Given the description of an element on the screen output the (x, y) to click on. 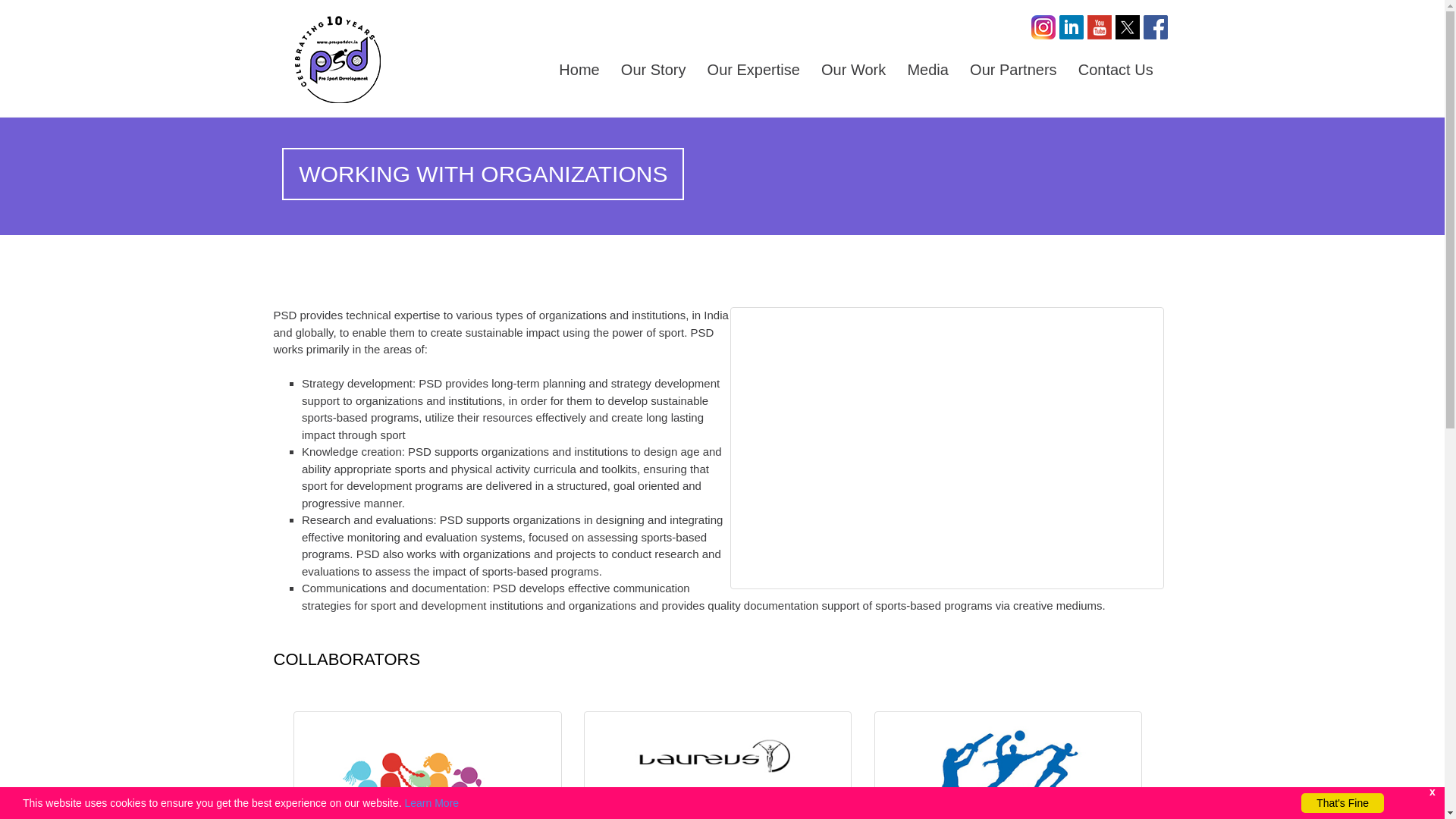
Our Story (653, 69)
YouTube video player (946, 447)
Our Work (853, 69)
Home (579, 69)
Our Expertise (753, 69)
